Given the description of an element on the screen output the (x, y) to click on. 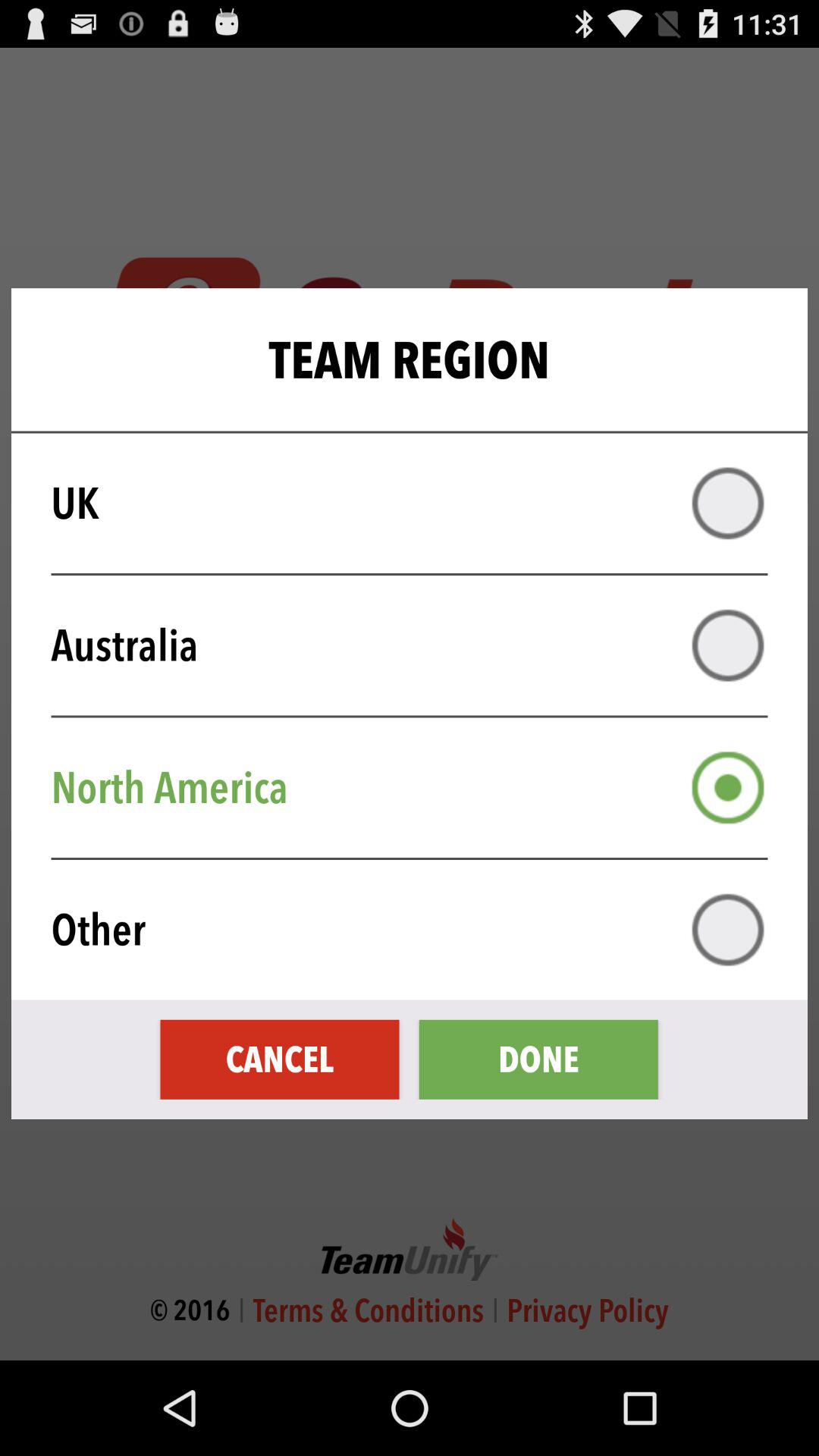
tap uk icon (419, 503)
